Given the description of an element on the screen output the (x, y) to click on. 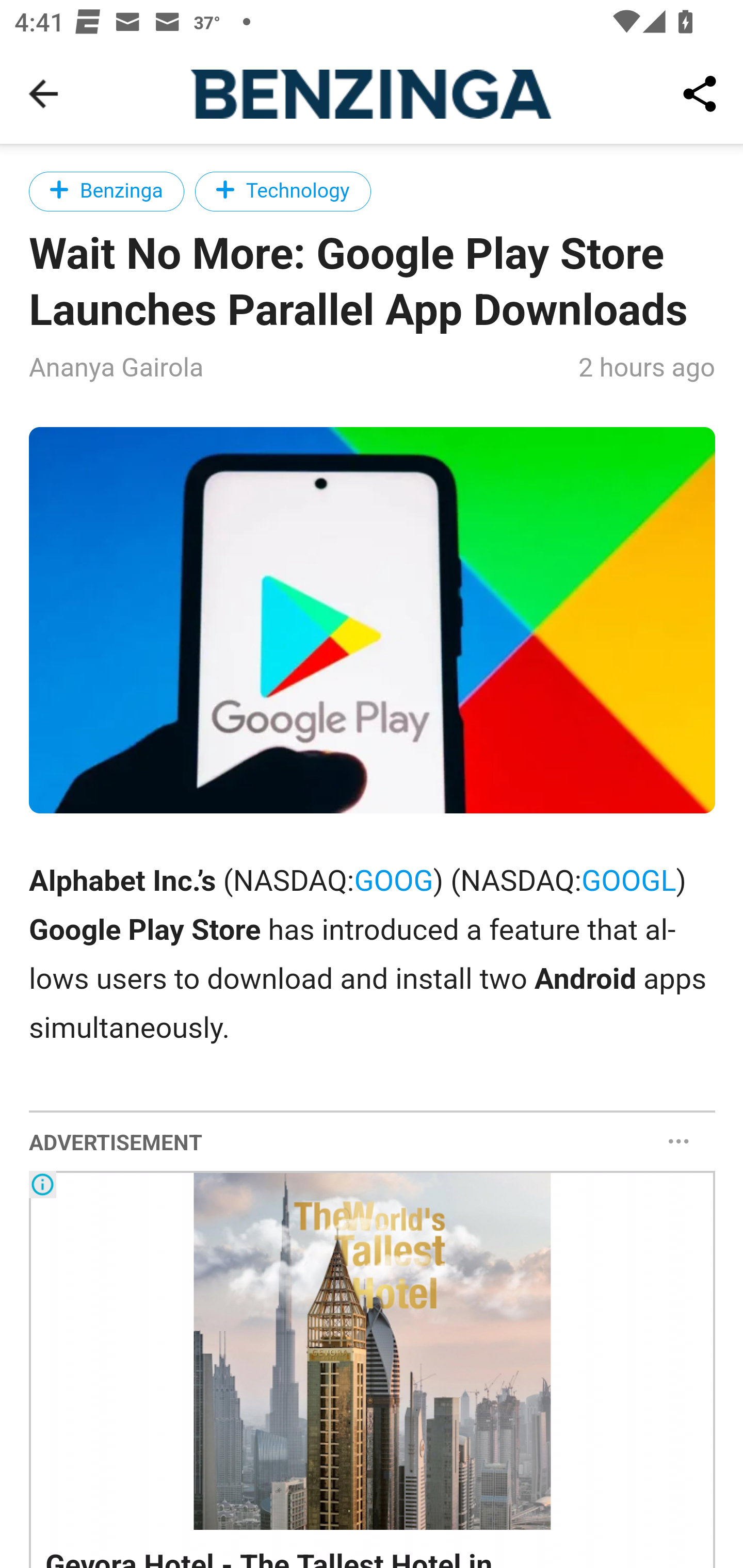
Benzinga (106, 191)
Technology (282, 191)
GOOG (393, 880)
GOOGL (628, 880)
